Given the description of an element on the screen output the (x, y) to click on. 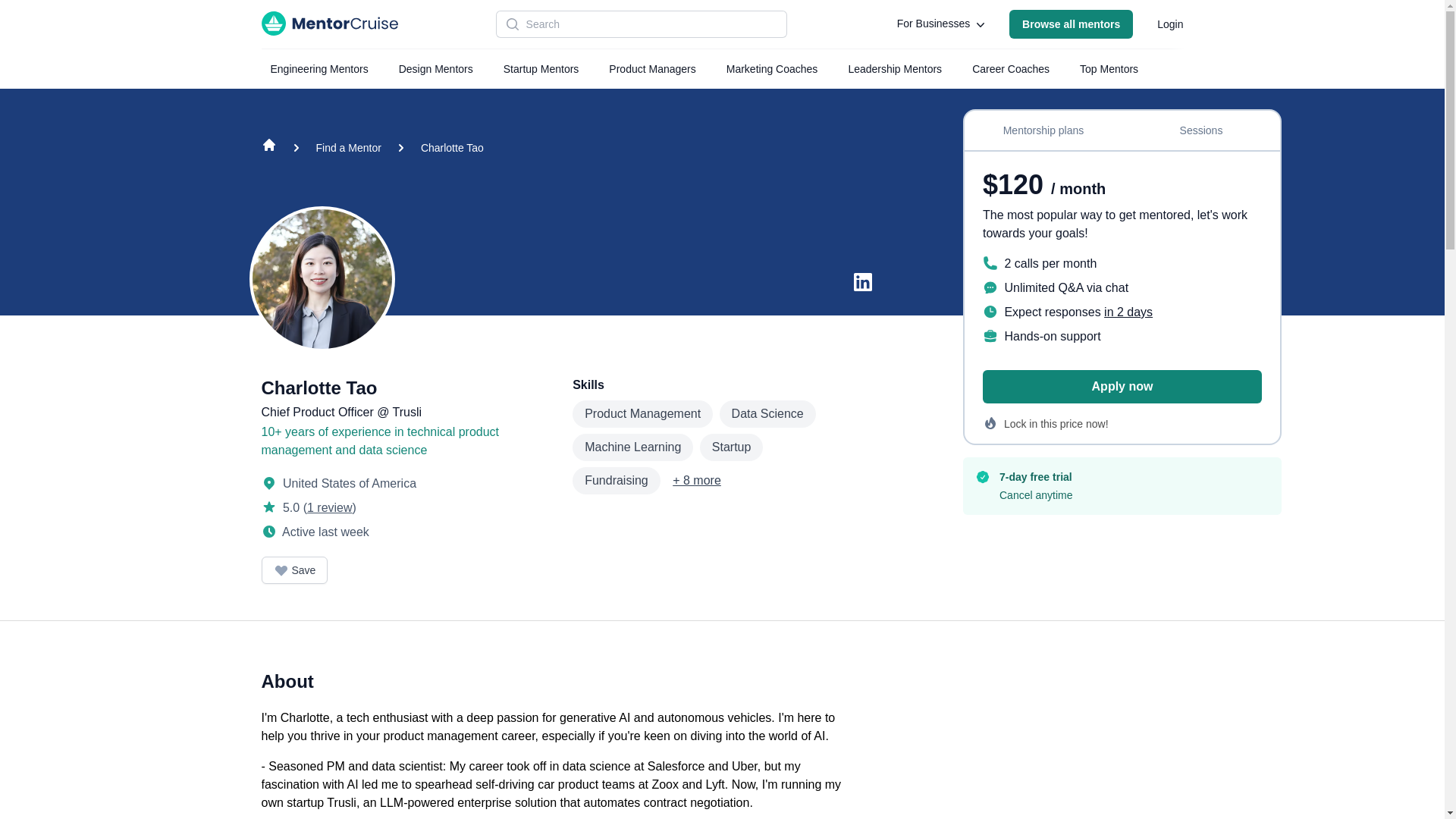
Home (268, 147)
Career Coaches (1010, 68)
Top Mentors (1108, 68)
Login (1169, 23)
Product Managers (651, 68)
Startup (731, 447)
Apply now (1122, 386)
Marketing Coaches (772, 68)
1 review (329, 507)
